Given the description of an element on the screen output the (x, y) to click on. 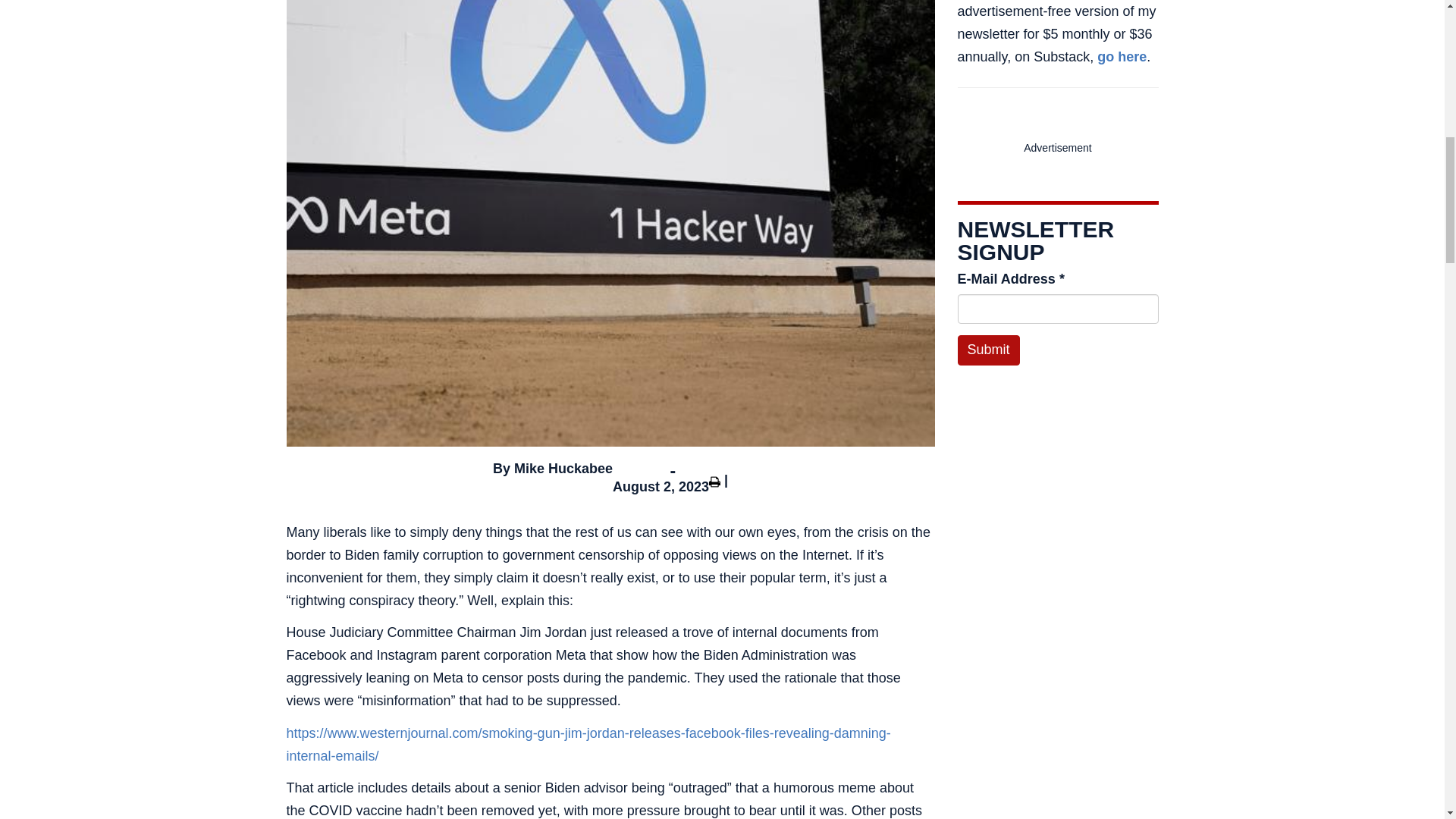
Submit (987, 349)
go here (1122, 56)
Submit (987, 349)
